Given the description of an element on the screen output the (x, y) to click on. 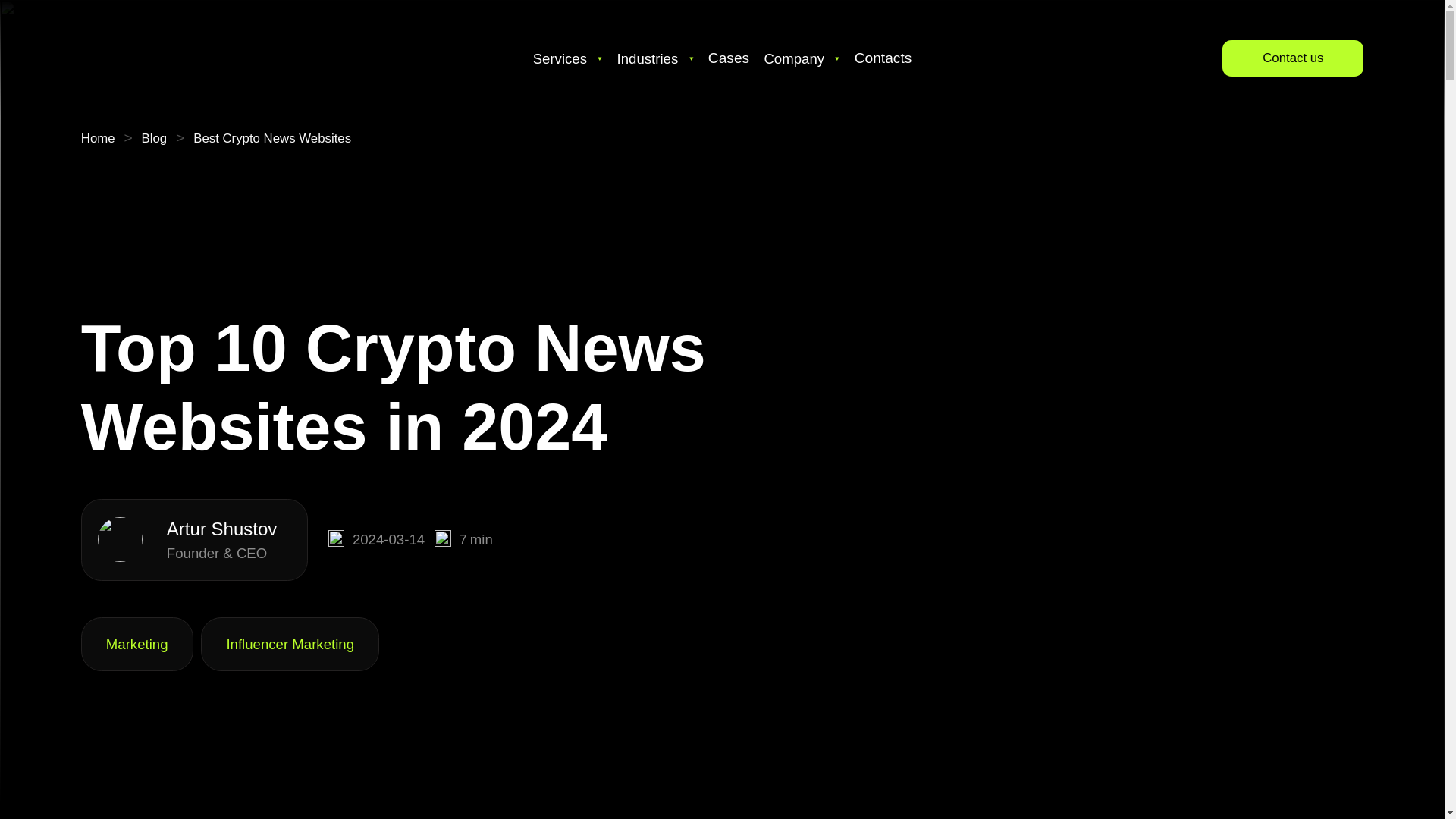
Home (98, 138)
Contact us (1292, 58)
Blog (154, 138)
Blog (154, 138)
Home (98, 138)
Contacts (883, 58)
Cases (728, 58)
